Given the description of an element on the screen output the (x, y) to click on. 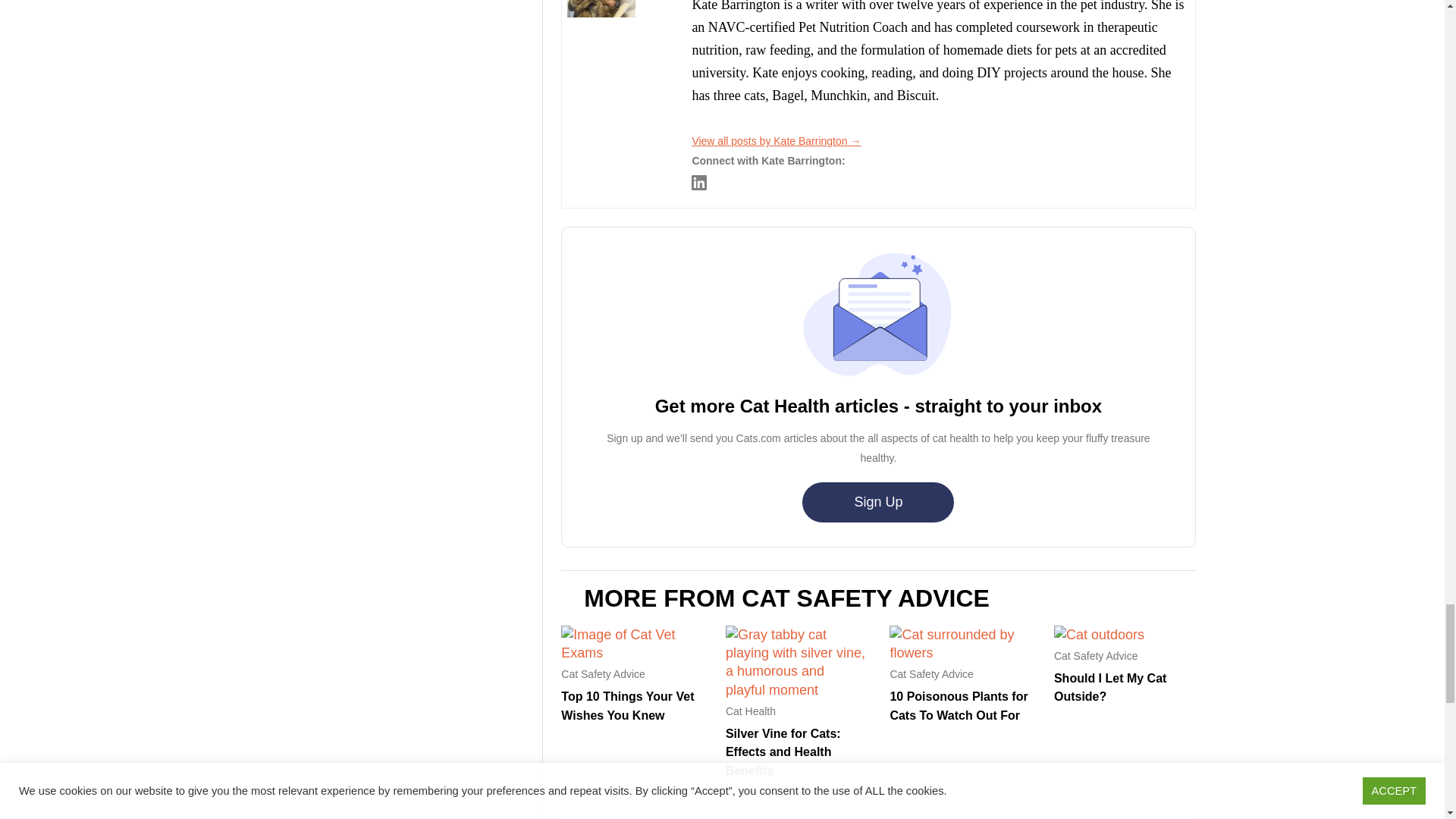
Should I Let My Cat Outside? (1110, 686)
Silver Vine for Cats: Effects and Health Benefits (783, 752)
Should I Let My Cat Outside? (1099, 634)
10 Poisonous Plants for Cats To Watch Out For (959, 652)
10 Poisonous Plants for Cats To Watch Out For (958, 705)
Top 10 Things Your Vet Wishes You Knew (627, 705)
Top 10 Things Your Vet Wishes You Knew (631, 652)
Silver Vine for Cats: Effects and Health Benefits (796, 689)
